Given the description of an element on the screen output the (x, y) to click on. 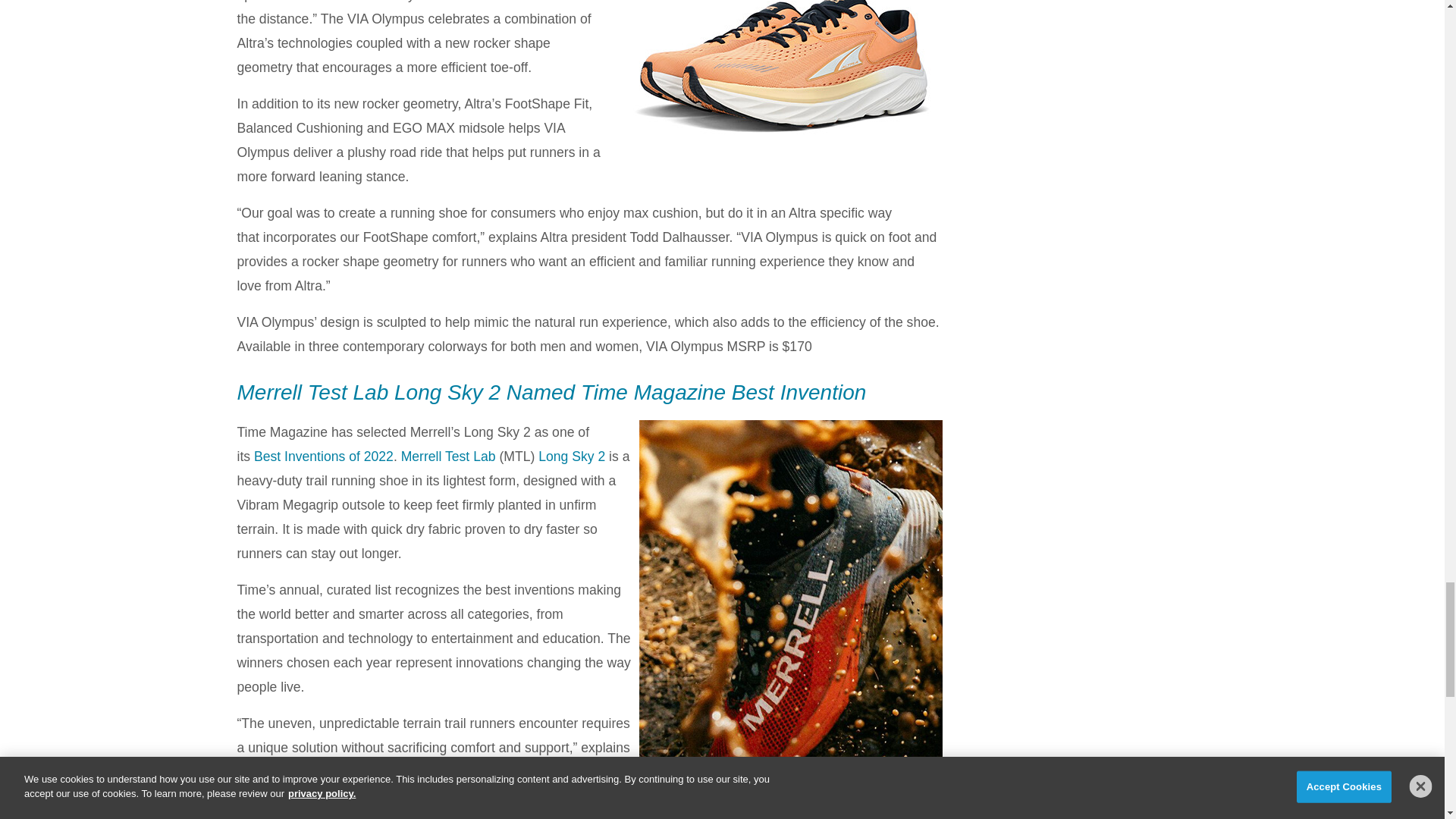
Best Inventions of 2022 (323, 456)
Long Sky 2 (571, 456)
Merrell Test Lab (448, 456)
